Given the description of an element on the screen output the (x, y) to click on. 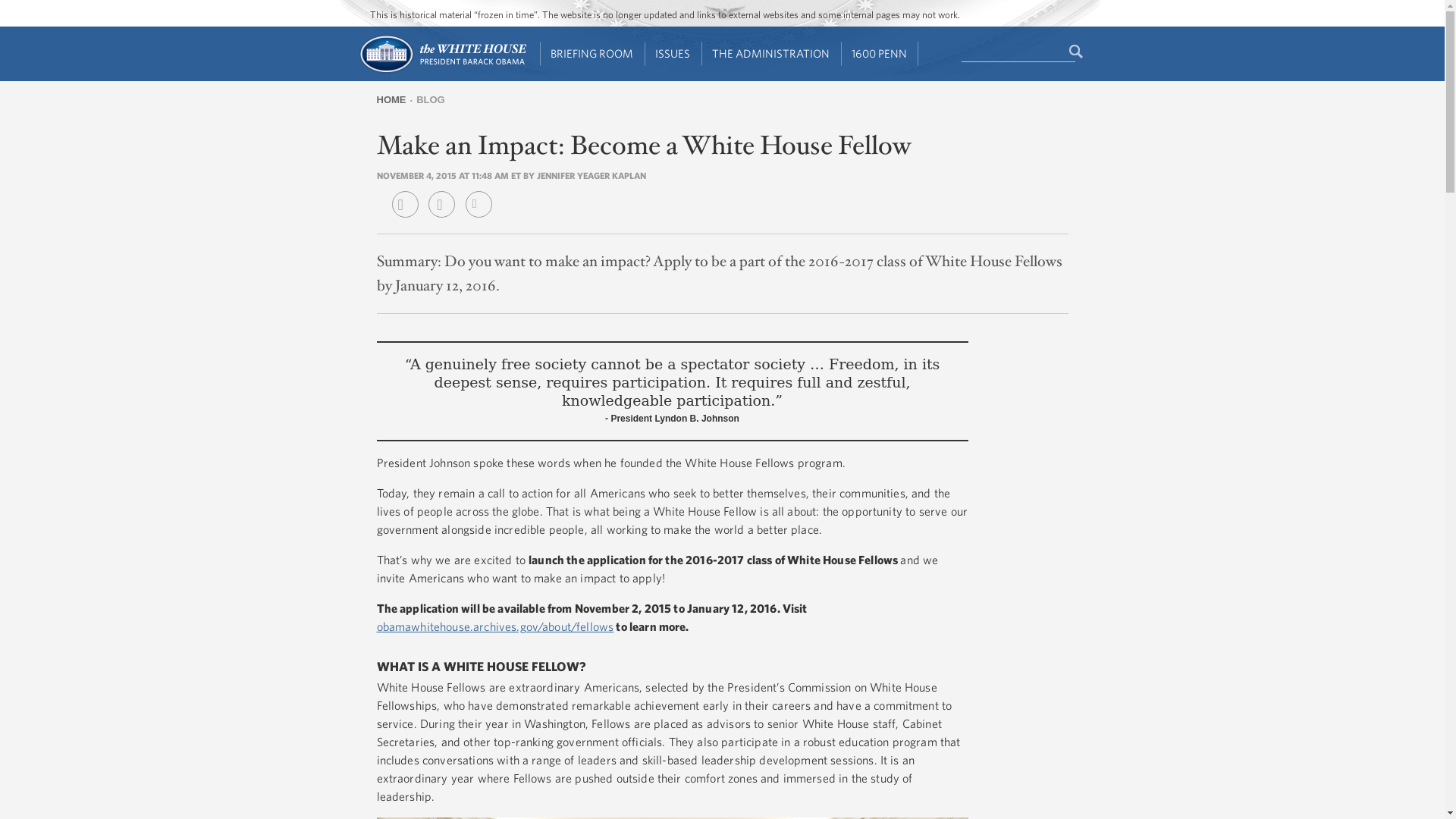
Home (441, 70)
Search (1076, 51)
Enter the terms you wish to search for. (1017, 52)
ISSUES (673, 53)
BRIEFING ROOM (592, 53)
